Given the description of an element on the screen output the (x, y) to click on. 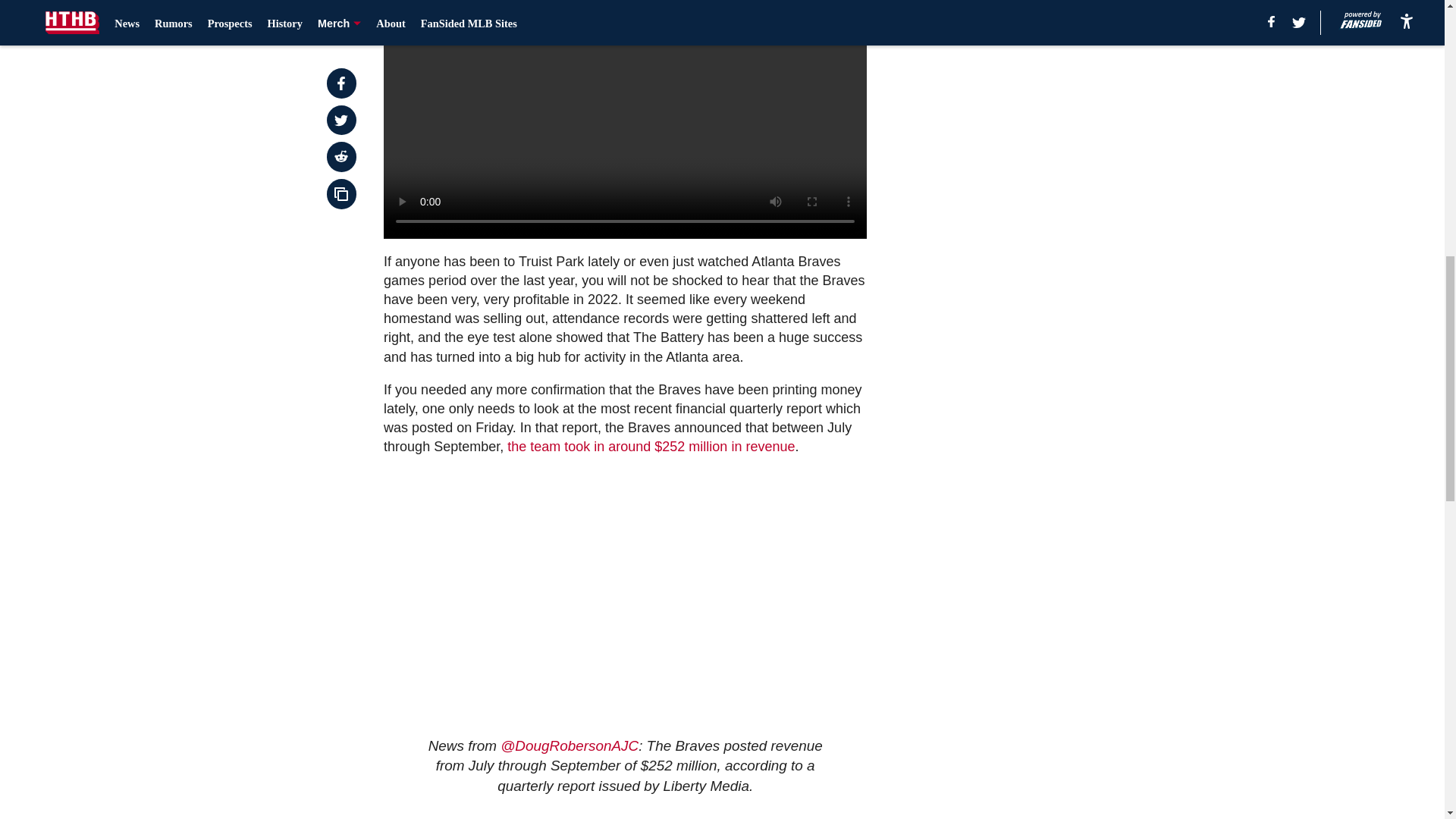
3rd party ad content (1005, 280)
3rd party ad content (1005, 78)
